Given the description of an element on the screen output the (x, y) to click on. 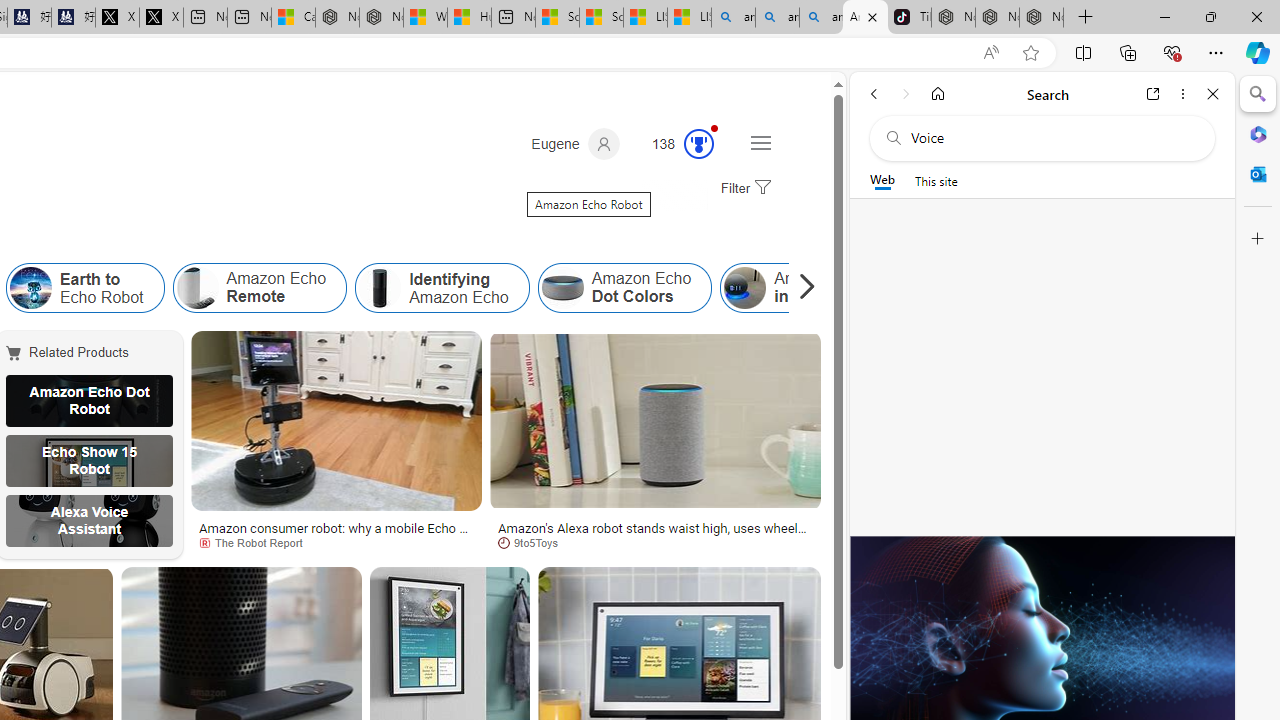
Outlook (1258, 174)
Amazon Echo Robot - Search Images (865, 17)
Class: medal-svg-animation (699, 143)
Customize (1258, 239)
Echo Show 15 Robot (89, 460)
Open link in new tab (1153, 93)
Nordace Siena Pro 15 Backpack (996, 17)
Image result for Amazon Echo Robot (655, 421)
Amazon Echo Remote (259, 287)
